Given the description of an element on the screen output the (x, y) to click on. 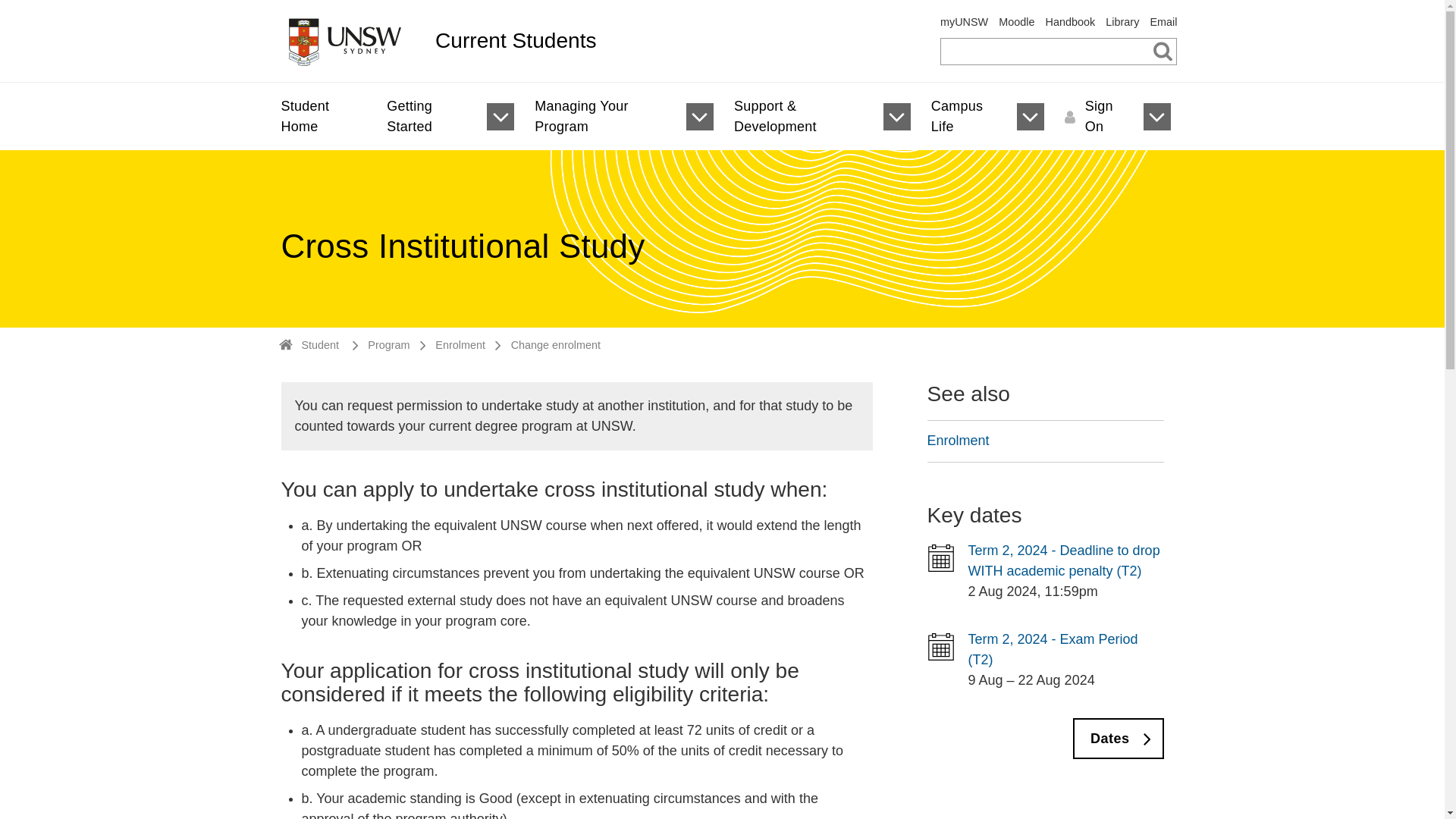
Current Students (673, 40)
Handbook (1070, 21)
Student Home (319, 116)
Getting Started (426, 116)
Search (1163, 50)
Library (1121, 21)
Moodle (1015, 21)
Search (1163, 50)
Enter the terms you wish to search for. (1058, 51)
myUNSW (964, 21)
Managing Your Program (600, 116)
